Given the description of an element on the screen output the (x, y) to click on. 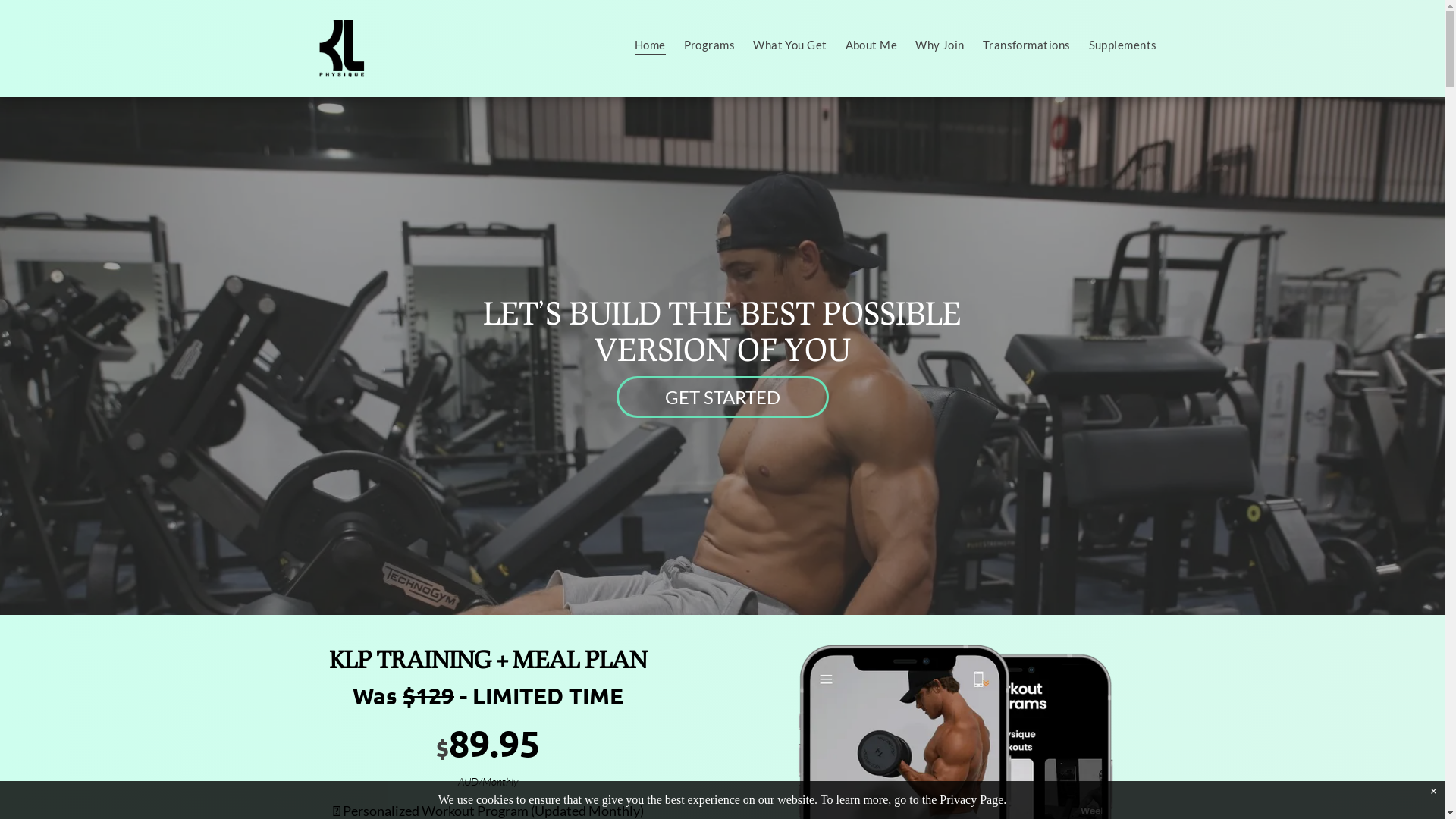
Supplements Element type: text (1122, 44)
What You Get Element type: text (789, 44)
Why Join Element type: text (939, 44)
About Me Element type: text (871, 44)
Programs Element type: text (709, 44)
Privacy Page. Element type: text (972, 799)
Home Element type: text (649, 44)
Transformations Element type: text (1026, 44)
GET STARTED Element type: text (721, 396)
